Given the description of an element on the screen output the (x, y) to click on. 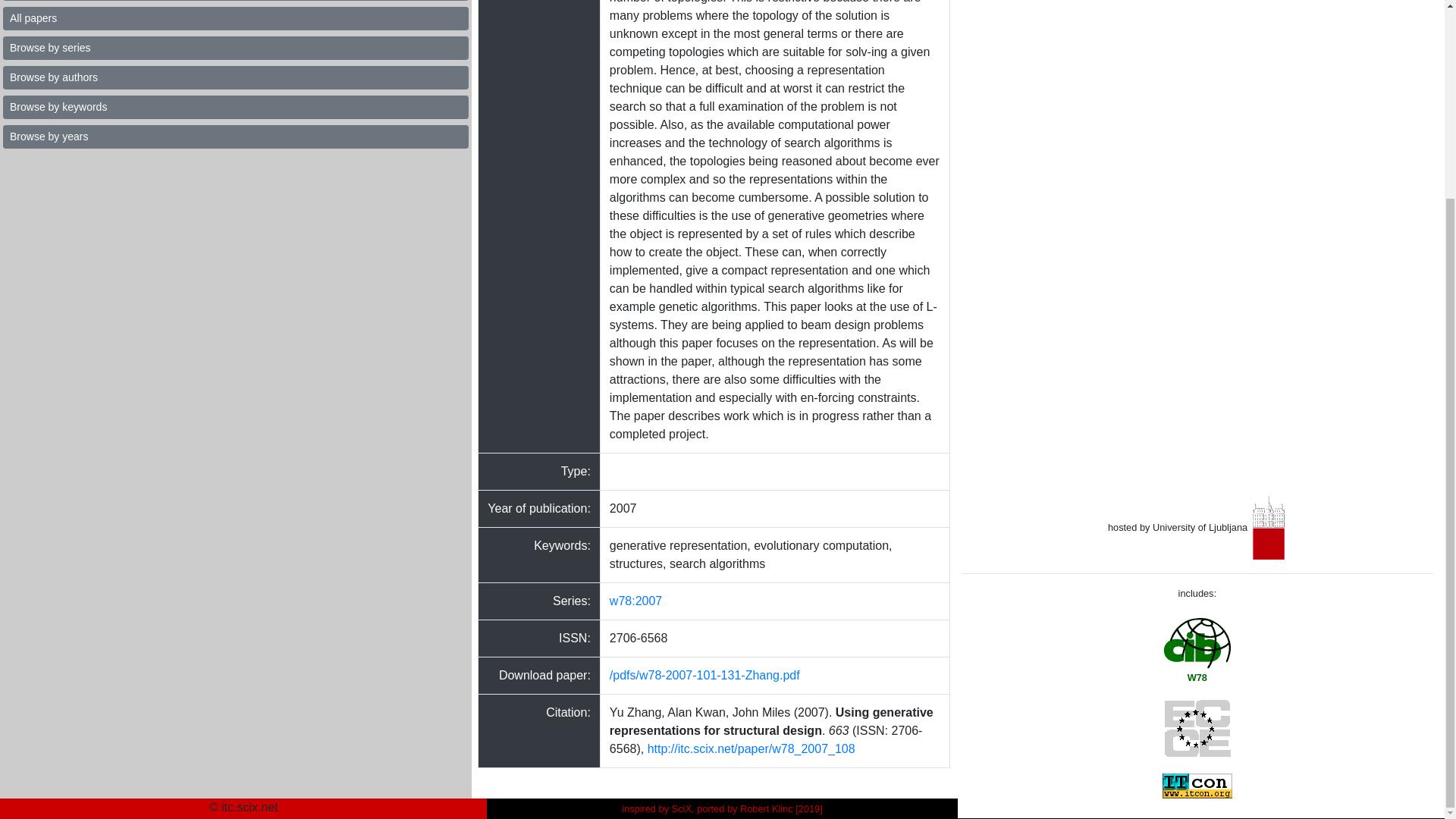
Browse by years (235, 136)
Browse by keywords (235, 106)
Browse by series (235, 47)
w78:2007 (636, 600)
All papers (235, 18)
Browse by authors (235, 77)
